Given the description of an element on the screen output the (x, y) to click on. 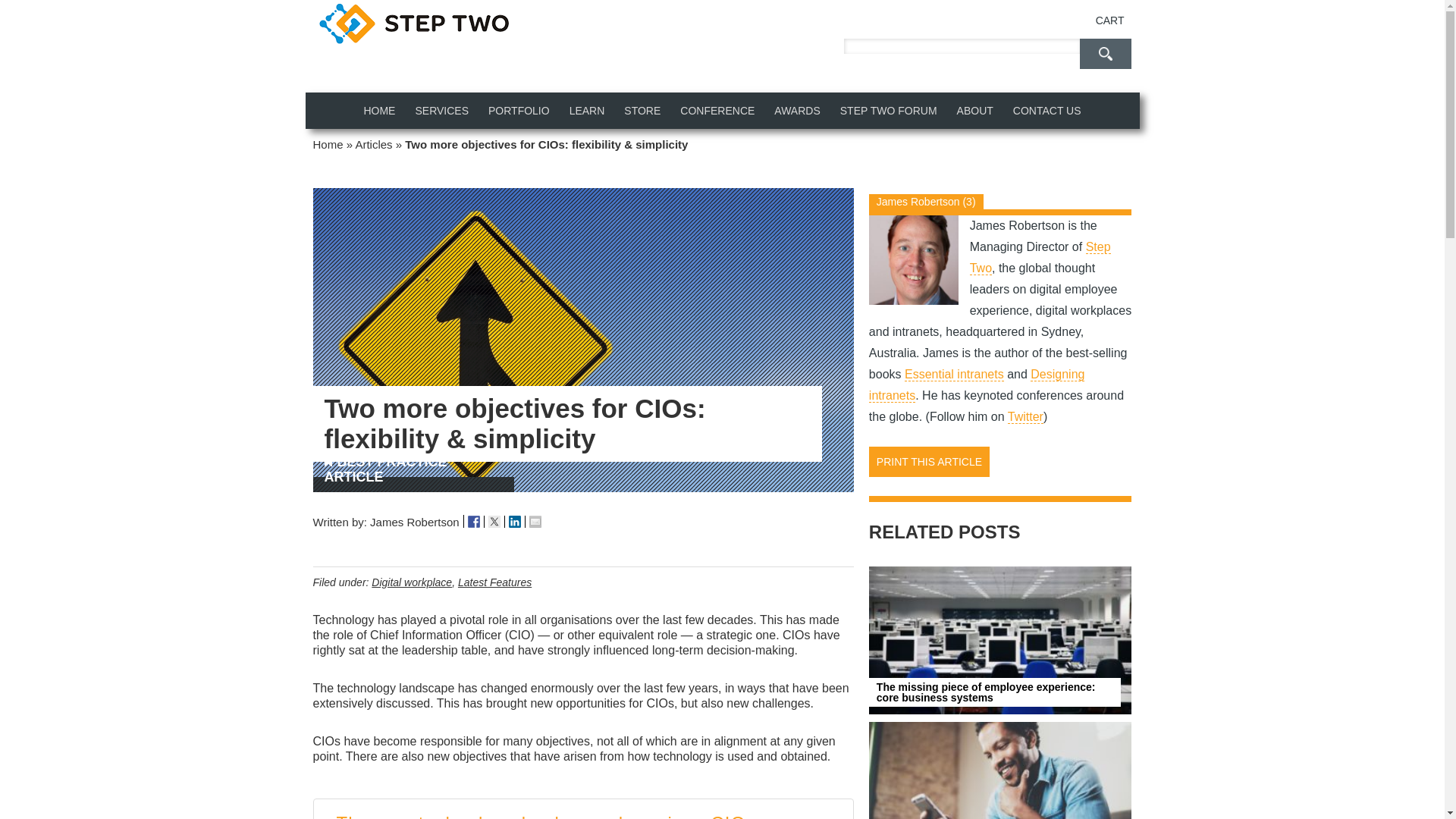
Share on Linkedin (515, 521)
Share on Twitter (494, 521)
Articles (373, 144)
Essential intranets (954, 374)
Share on Linkedin (514, 521)
Search (1105, 53)
CONFERENCE (716, 110)
Share by email (534, 521)
Latest Features (494, 582)
